Given the description of an element on the screen output the (x, y) to click on. 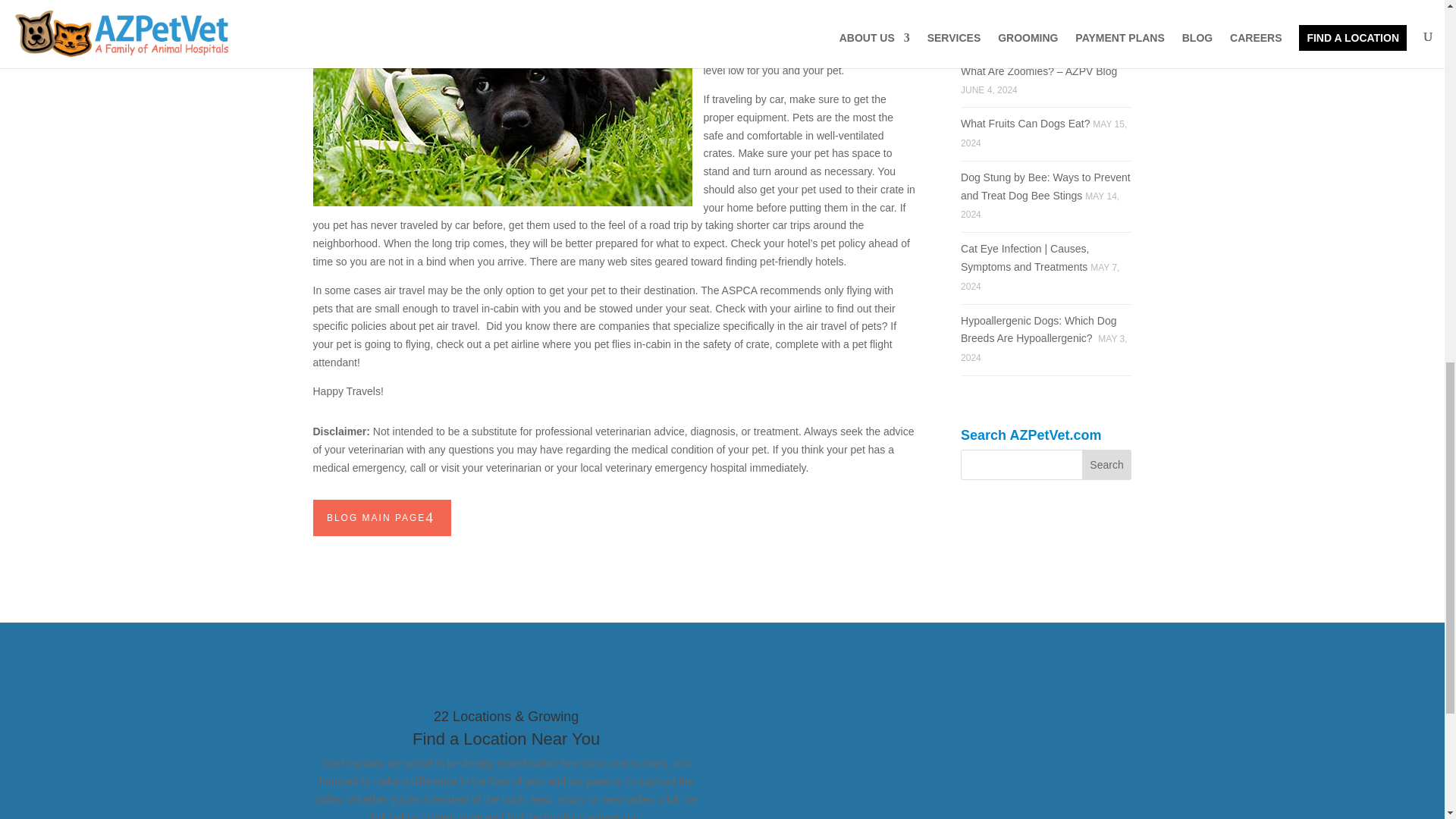
Dog Stung by Bee: Ways to Prevent and Treat Dog Bee Stings (1045, 186)
Hypoallergenic Dogs: Which Dog Breeds Are Hypoallergenic?  (1038, 329)
puppy (502, 103)
Search (1106, 464)
Search (1106, 464)
BLOG MAIN PAGE (382, 517)
What Fruits Can Dogs Eat? (1024, 123)
